Given the description of an element on the screen output the (x, y) to click on. 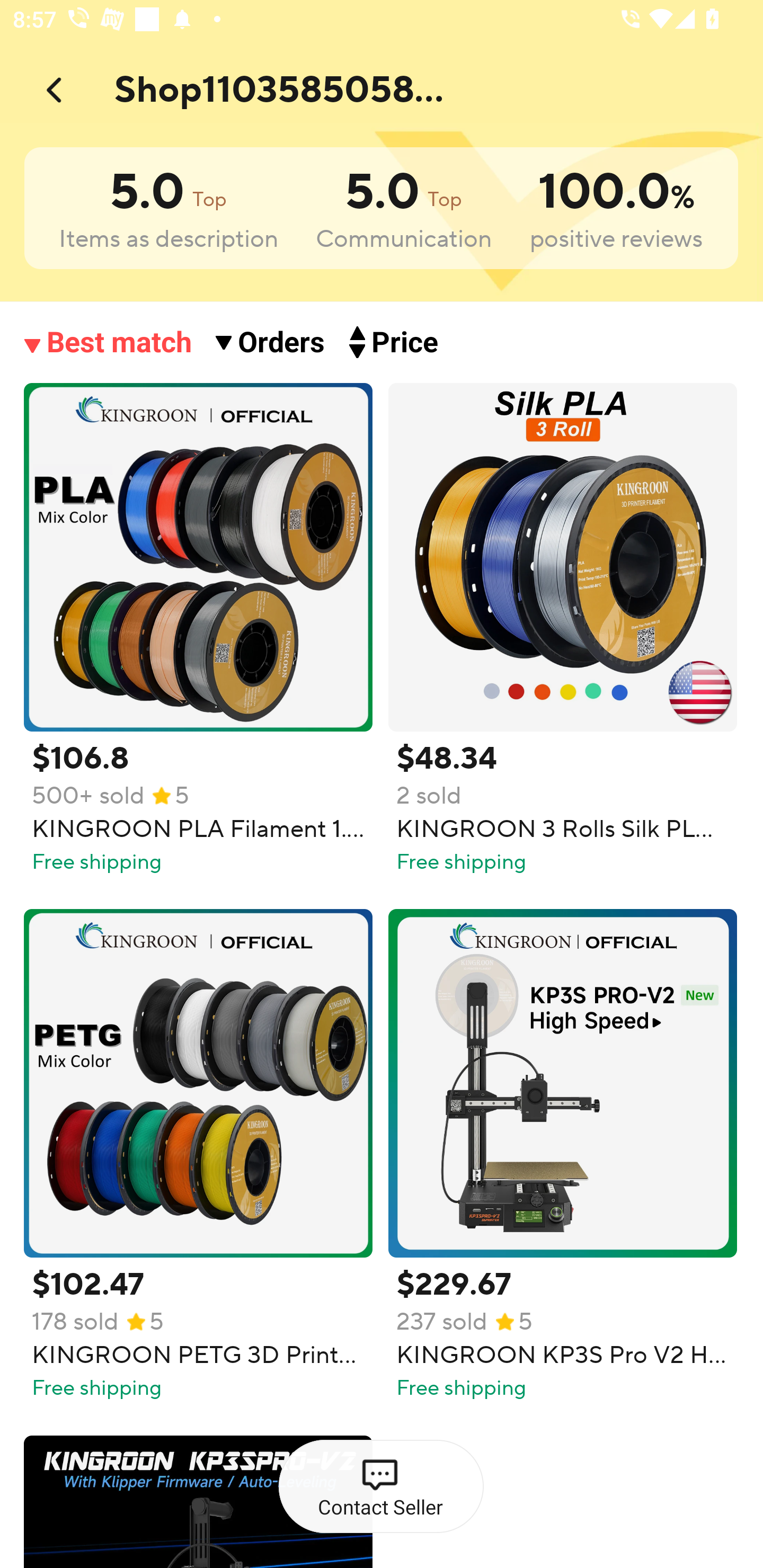
Shop1103585058… (293, 86)
Best match (119, 342)
Orders (282, 342)
Price (405, 342)
Contact Seller (380, 1486)
